Given the description of an element on the screen output the (x, y) to click on. 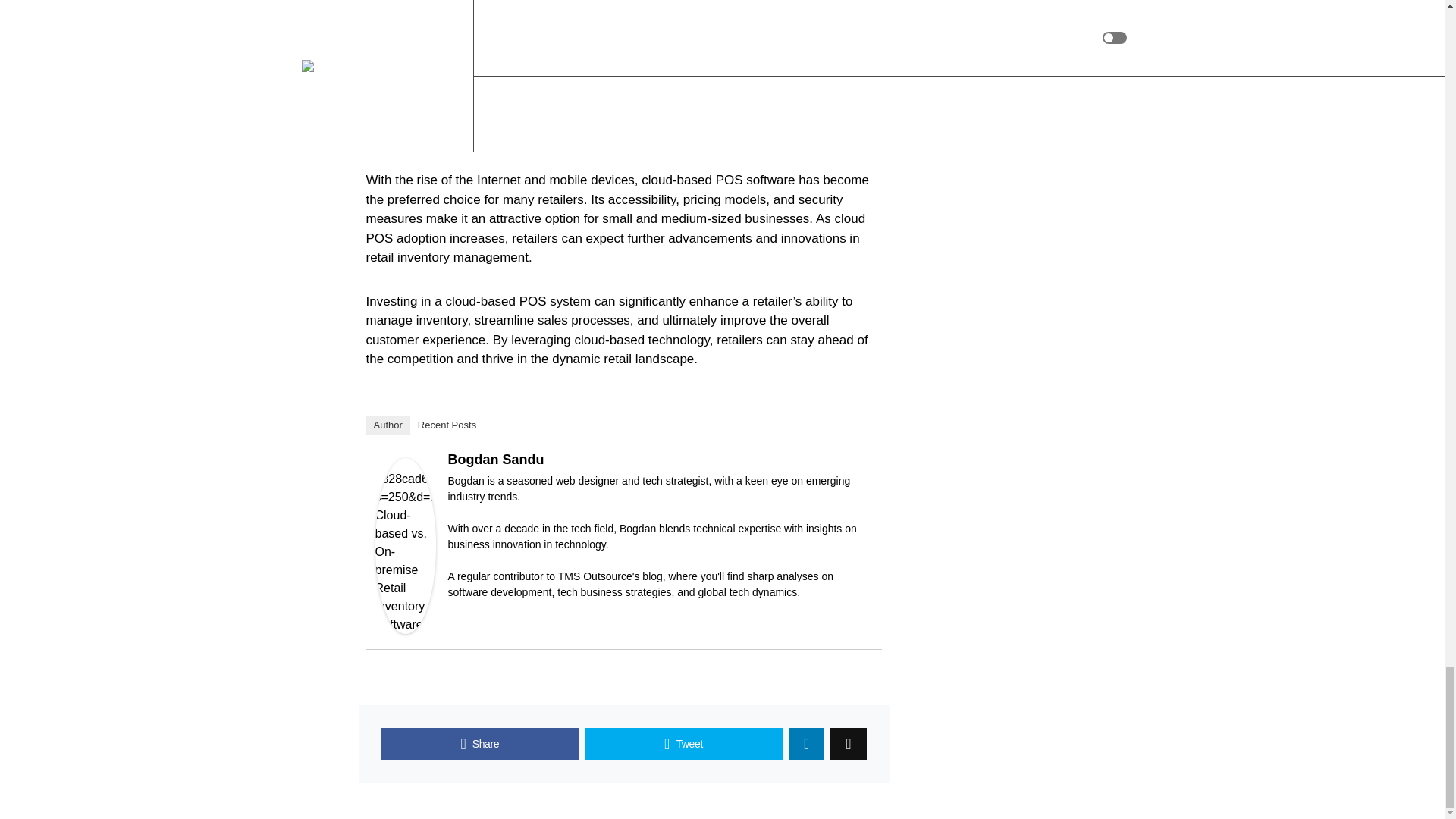
Bogdan Sandu (404, 544)
